Given the description of an element on the screen output the (x, y) to click on. 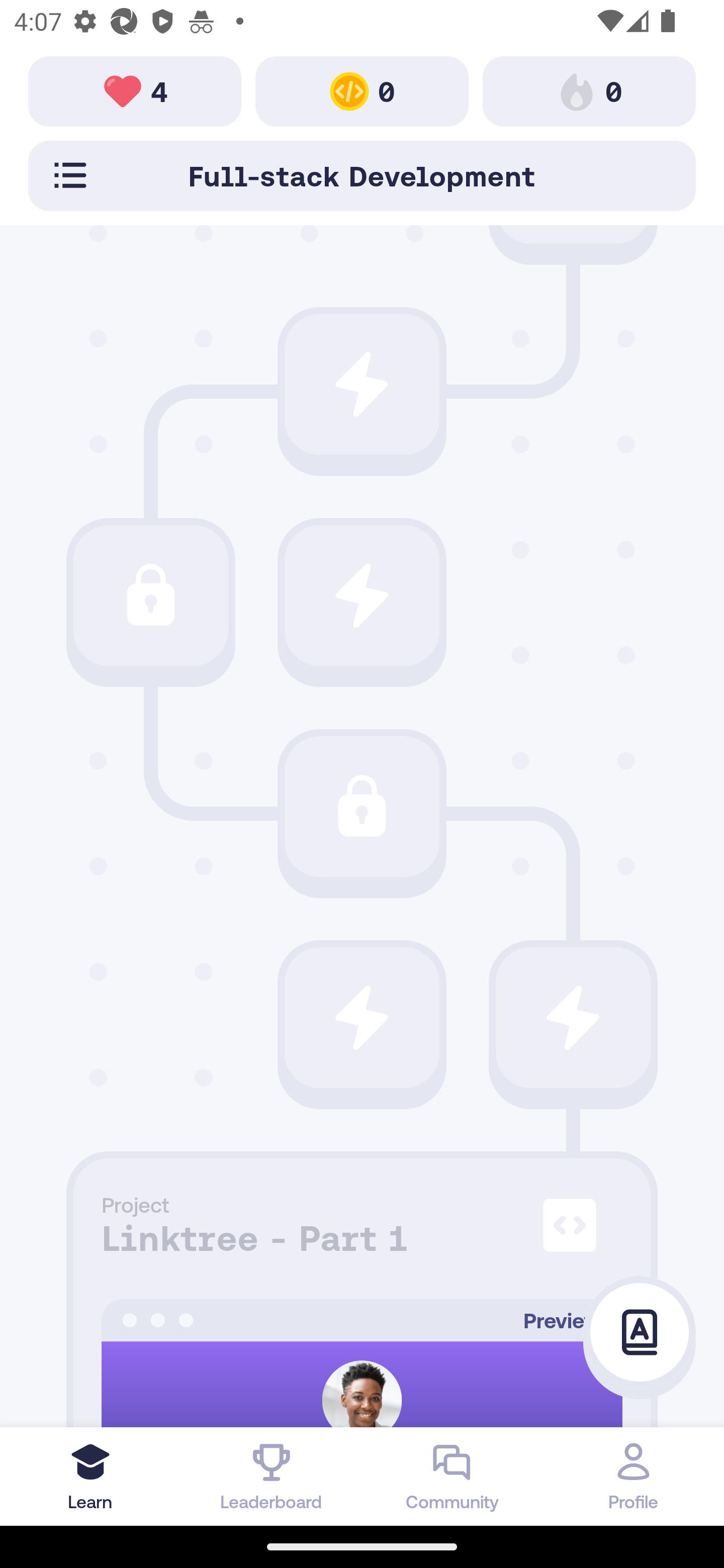
Path Toolbar Image 4 (134, 90)
Path Toolbar Image 0 (361, 90)
Path Toolbar Image 0 (588, 90)
Path Toolbar Selector Full-stack Development (361, 175)
Glossary Icon (639, 1332)
Leaderboard (271, 1475)
Community (452, 1475)
Profile (633, 1475)
